Given the description of an element on the screen output the (x, y) to click on. 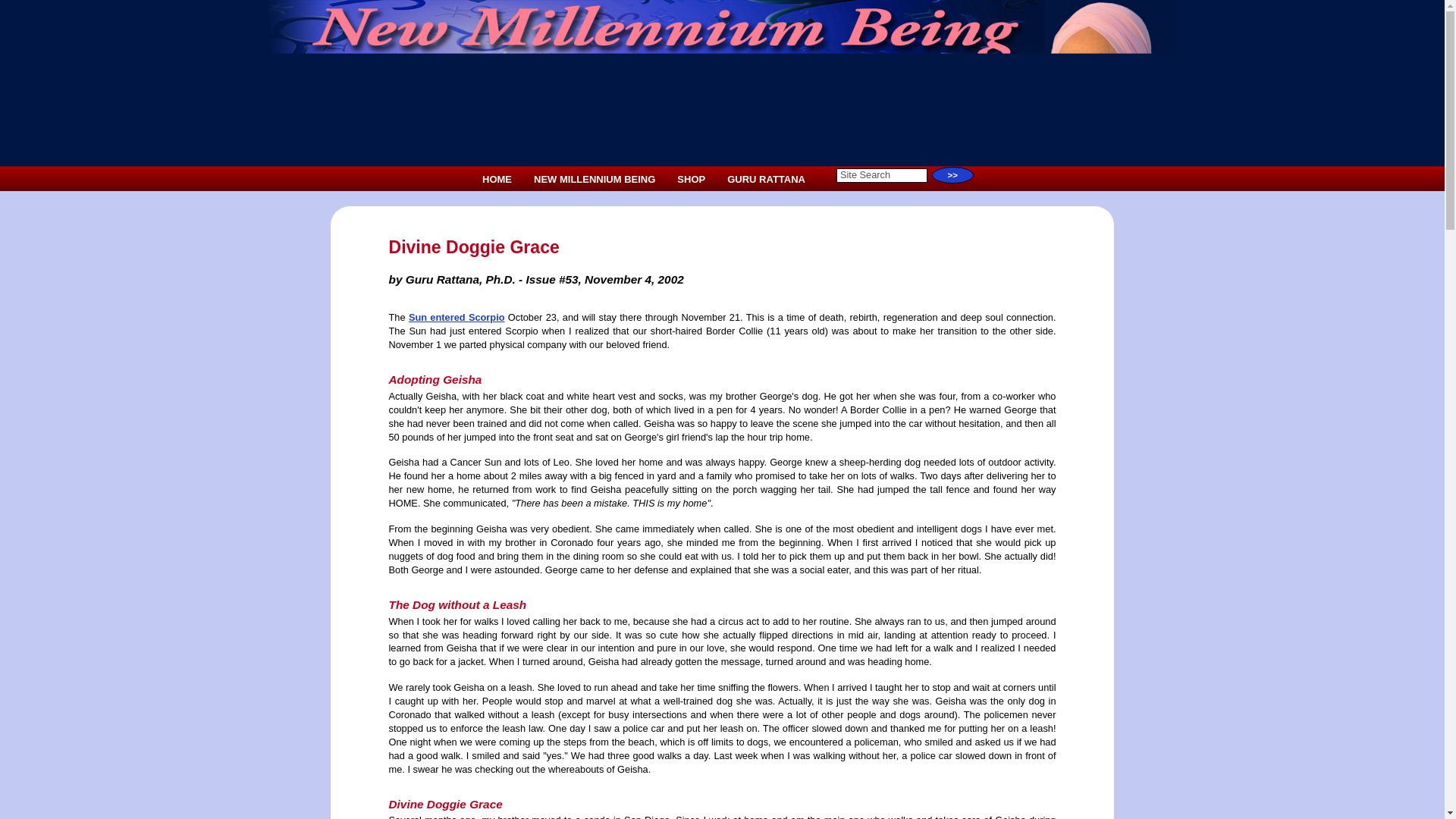
SHOP (691, 179)
Sun entered Scorpio (457, 317)
HOME (497, 179)
Site Search (881, 175)
GURU RATTANA (765, 179)
NEW MILLENNIUM BEING (593, 179)
